Given the description of an element on the screen output the (x, y) to click on. 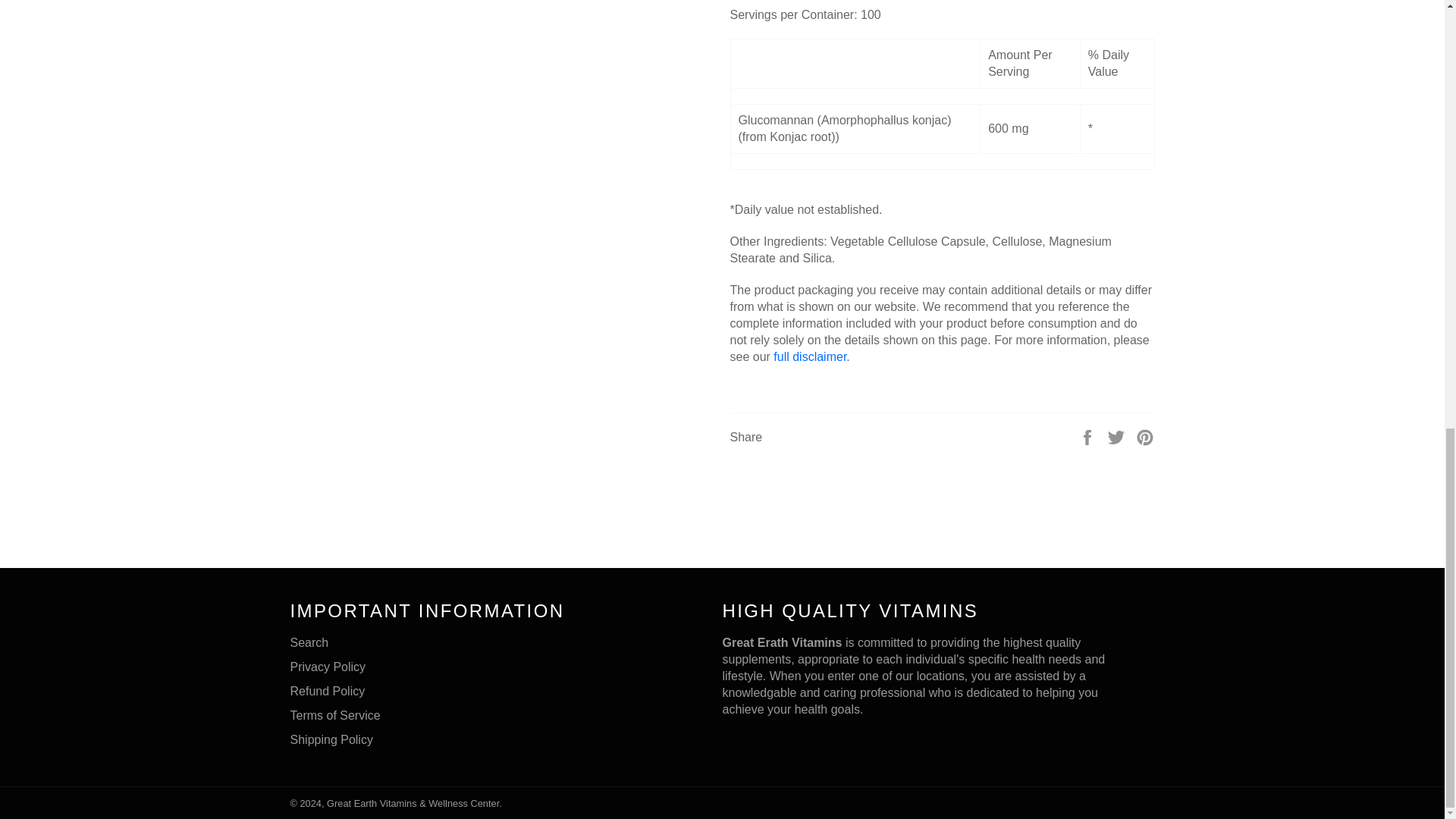
Shipping Policy (330, 739)
Refund Policy (327, 690)
Pin on Pinterest (1144, 436)
Tweet on Twitter (1117, 436)
full disclaimer (809, 356)
Share on Facebook (1088, 436)
Search (309, 642)
Privacy Policy (327, 666)
Share on Facebook (1088, 436)
Tweet on Twitter (1117, 436)
Pin on Pinterest (1144, 436)
Terms of Service (334, 715)
